Given the description of an element on the screen output the (x, y) to click on. 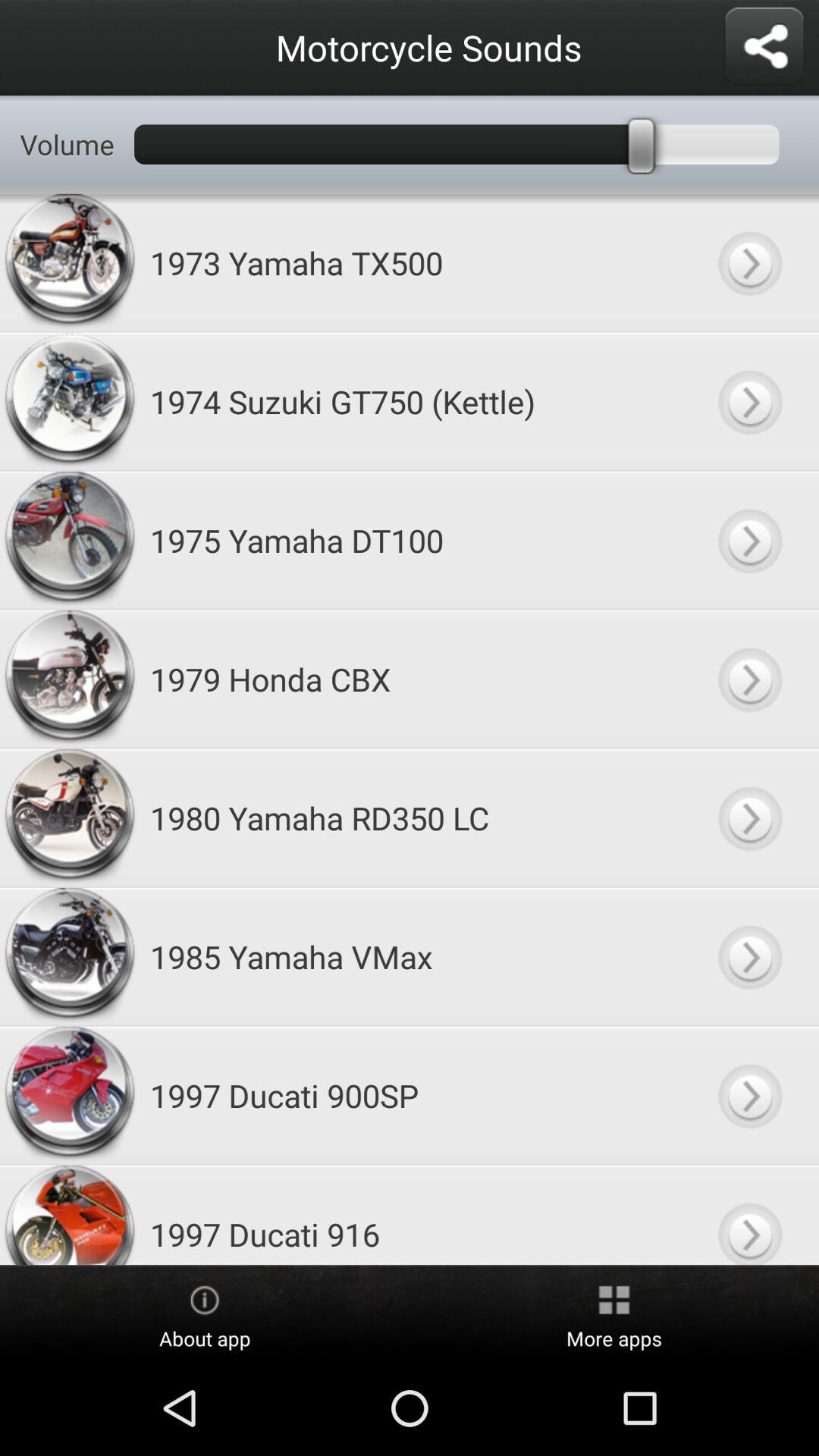
select sound (749, 679)
